Given the description of an element on the screen output the (x, y) to click on. 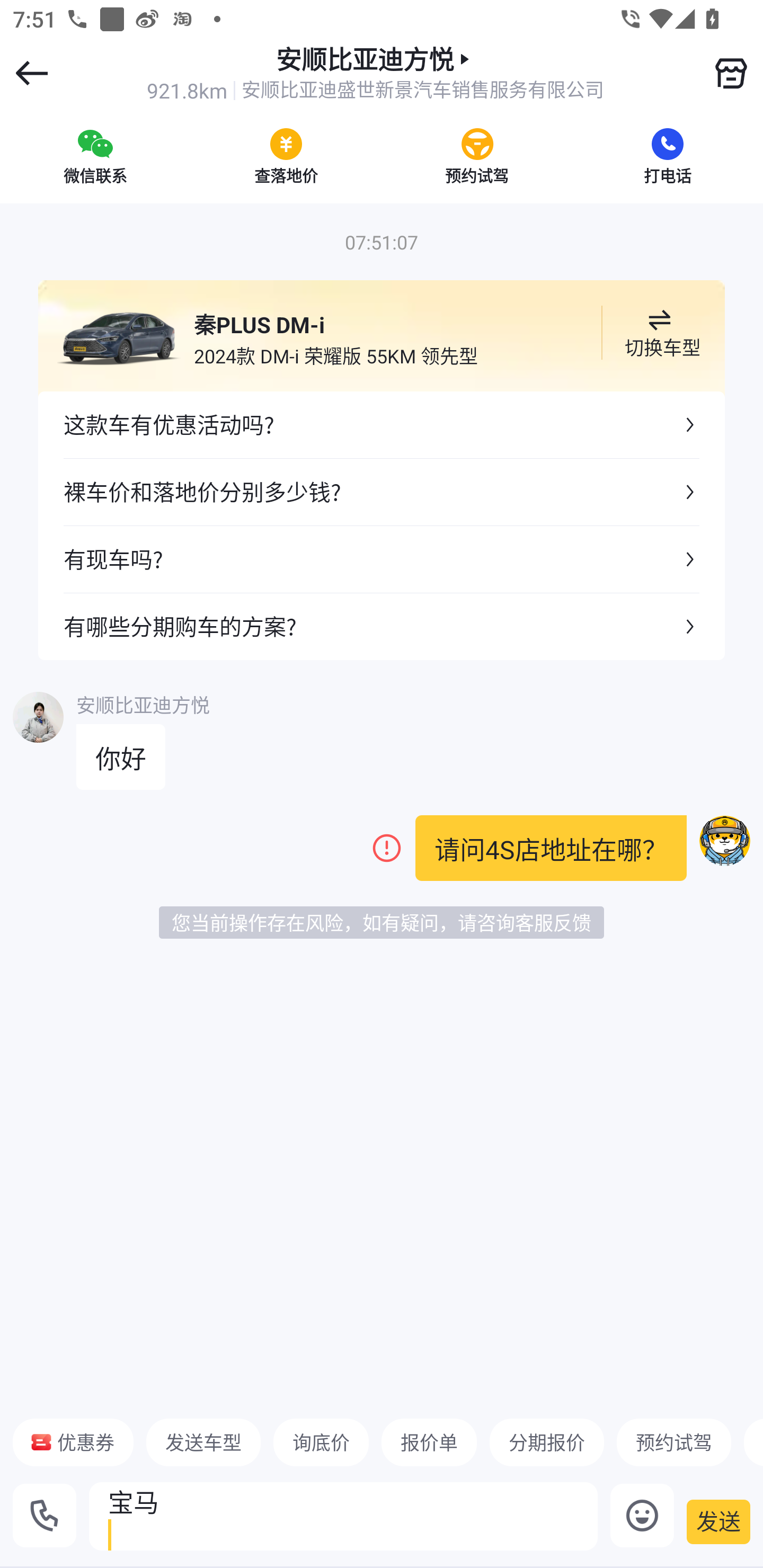
安顺比亚迪方悦 921.8km 安顺比亚迪盛世新景汽车销售服务有限公司 (374, 73)
 (730, 73)
微信联系 (95, 155)
查落地价 (285, 155)
预约试驾 (476, 155)
打电话 (667, 155)
切换车型 (659, 332)
这款车有优惠活动吗? (381, 424)
裸车价和落地价分别多少钱? (381, 492)
有现车吗? (381, 558)
有哪些分期购车的方案? (381, 626)
你好 (120, 757)
请问4S店地址在哪？ (550, 848)
优惠券 (72, 1442)
发送车型 (203, 1442)
询底价 (320, 1442)
报价单 (428, 1442)
分期报价 (546, 1442)
预约试驾 (673, 1442)
宝马
 (343, 1515)
发送 (718, 1521)
